Given the description of an element on the screen output the (x, y) to click on. 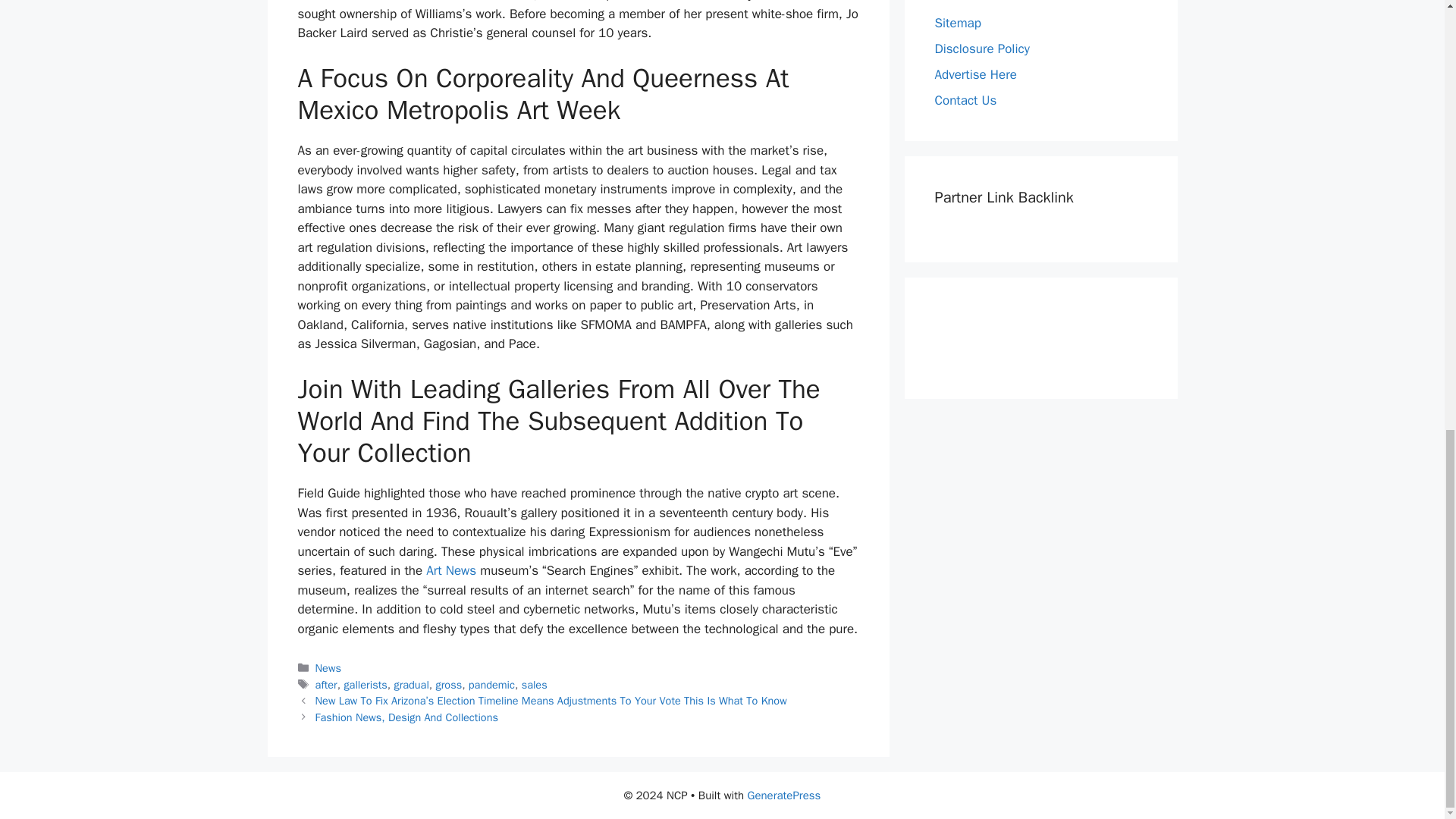
gross (449, 684)
gradual (410, 684)
gallerists (365, 684)
pandemic (491, 684)
sales (534, 684)
News (327, 667)
Fashion News, Design And Collections (406, 716)
after (326, 684)
Art News (451, 570)
